Given the description of an element on the screen output the (x, y) to click on. 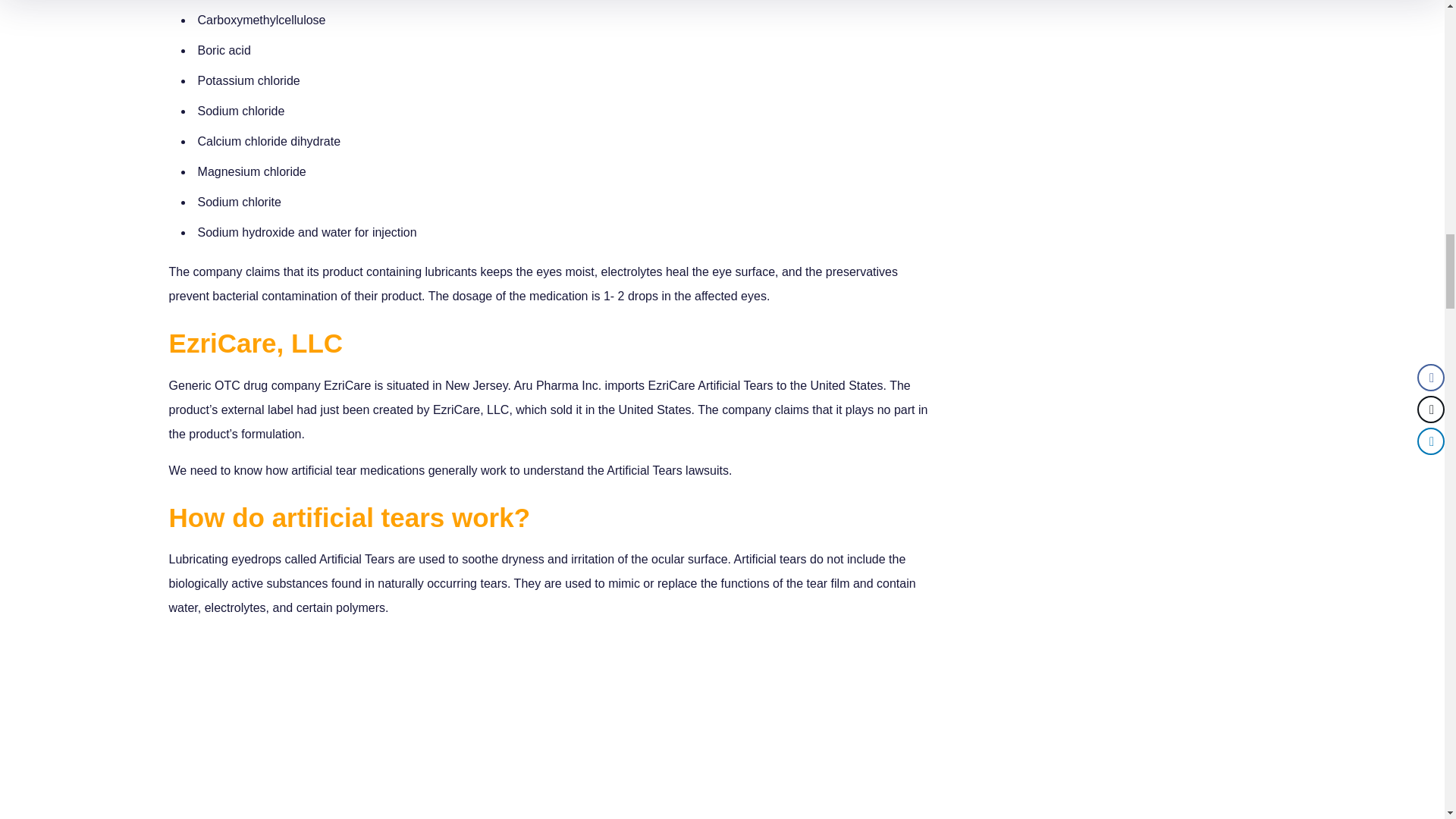
ezricare eye drops - LezDo TechMed Blog (554, 725)
